Given the description of an element on the screen output the (x, y) to click on. 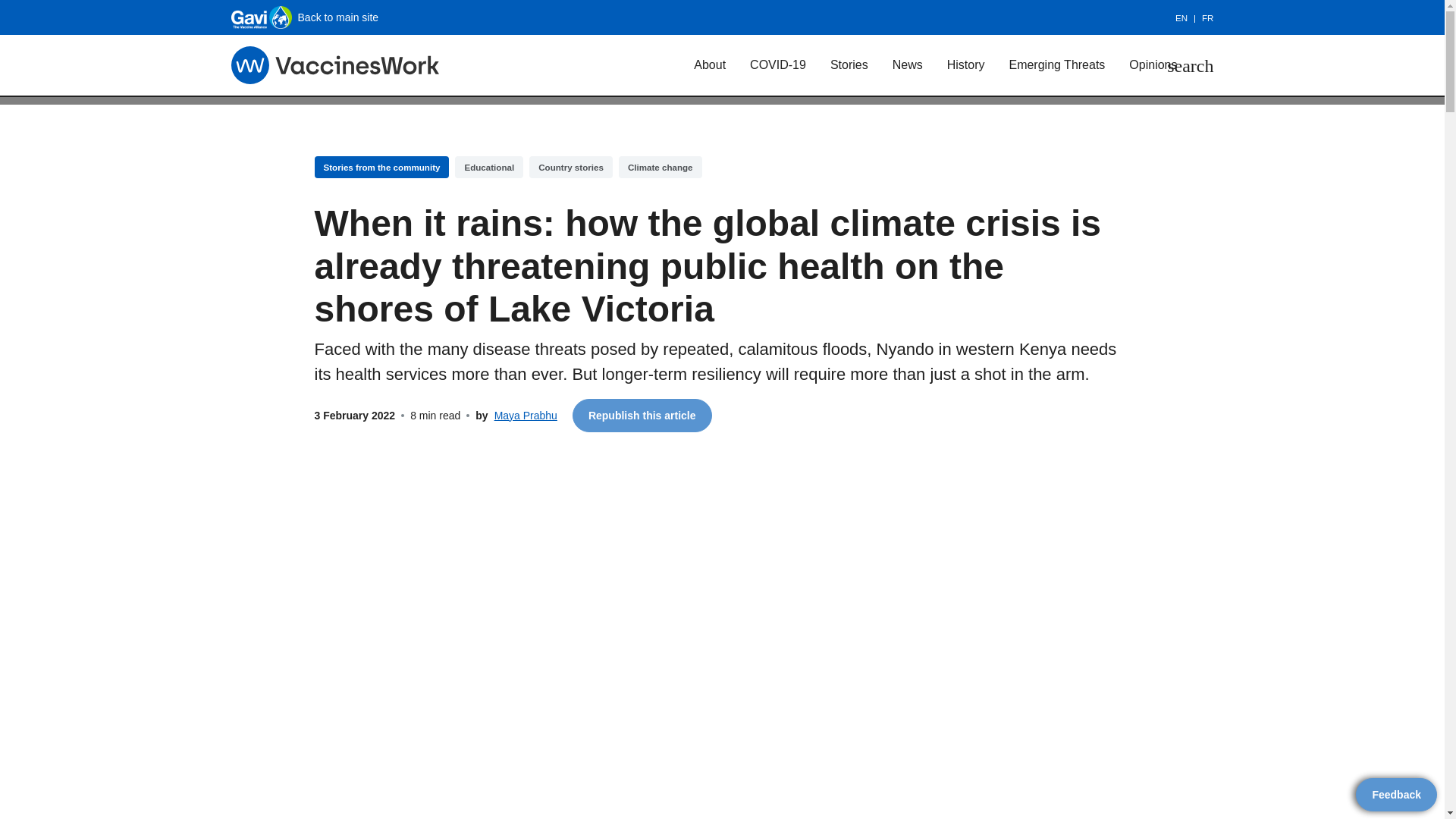
COVID-19 (778, 64)
Stories (849, 64)
News (907, 64)
Republish this article (641, 415)
Educational (488, 167)
Back to main site (304, 16)
Climate change (659, 167)
Country stories (570, 167)
Emerging Threats (1055, 64)
EN (1188, 17)
About (709, 64)
Stories from the community (381, 167)
Opinions (1152, 64)
History (965, 64)
FR (1207, 17)
